Given the description of an element on the screen output the (x, y) to click on. 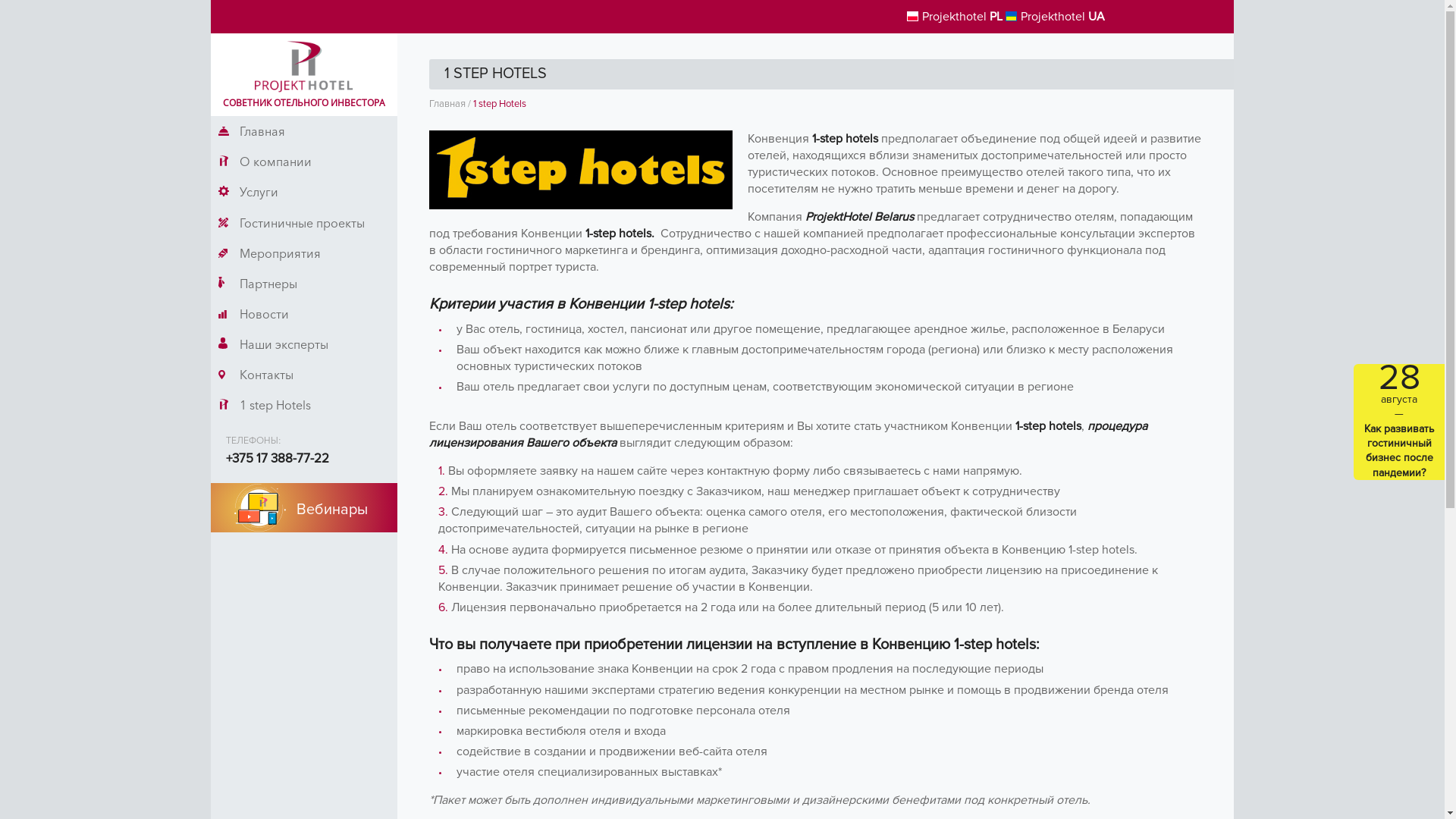
Projekthotel PL Element type: text (954, 16)
+375 17 388-77-22 Element type: text (277, 458)
1 step Hotels Element type: text (303, 404)
Projekthotel UA Element type: text (1054, 16)
